Given the description of an element on the screen output the (x, y) to click on. 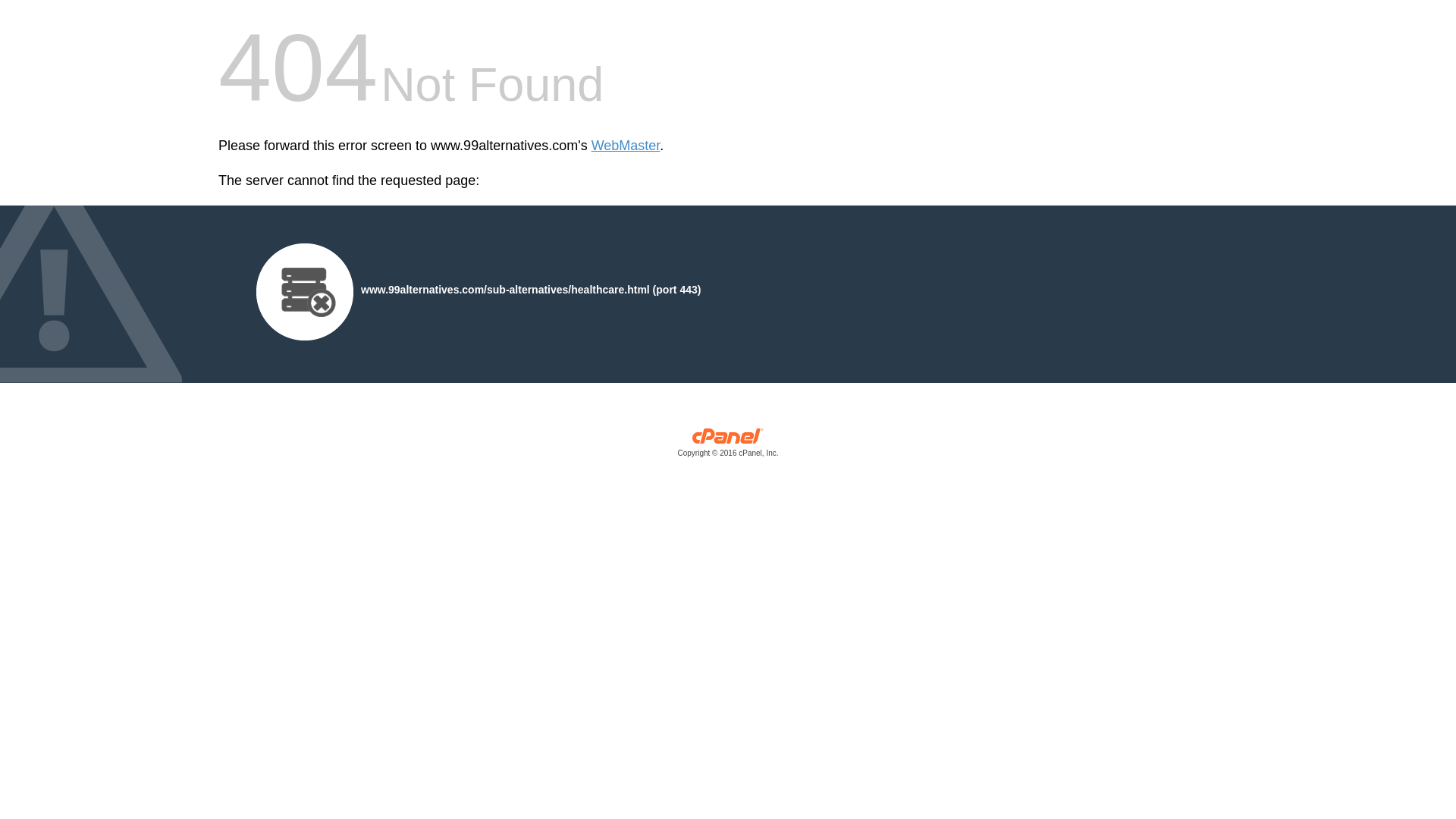
cPanel, Inc. (727, 446)
WebMaster (626, 145)
